Given the description of an element on the screen output the (x, y) to click on. 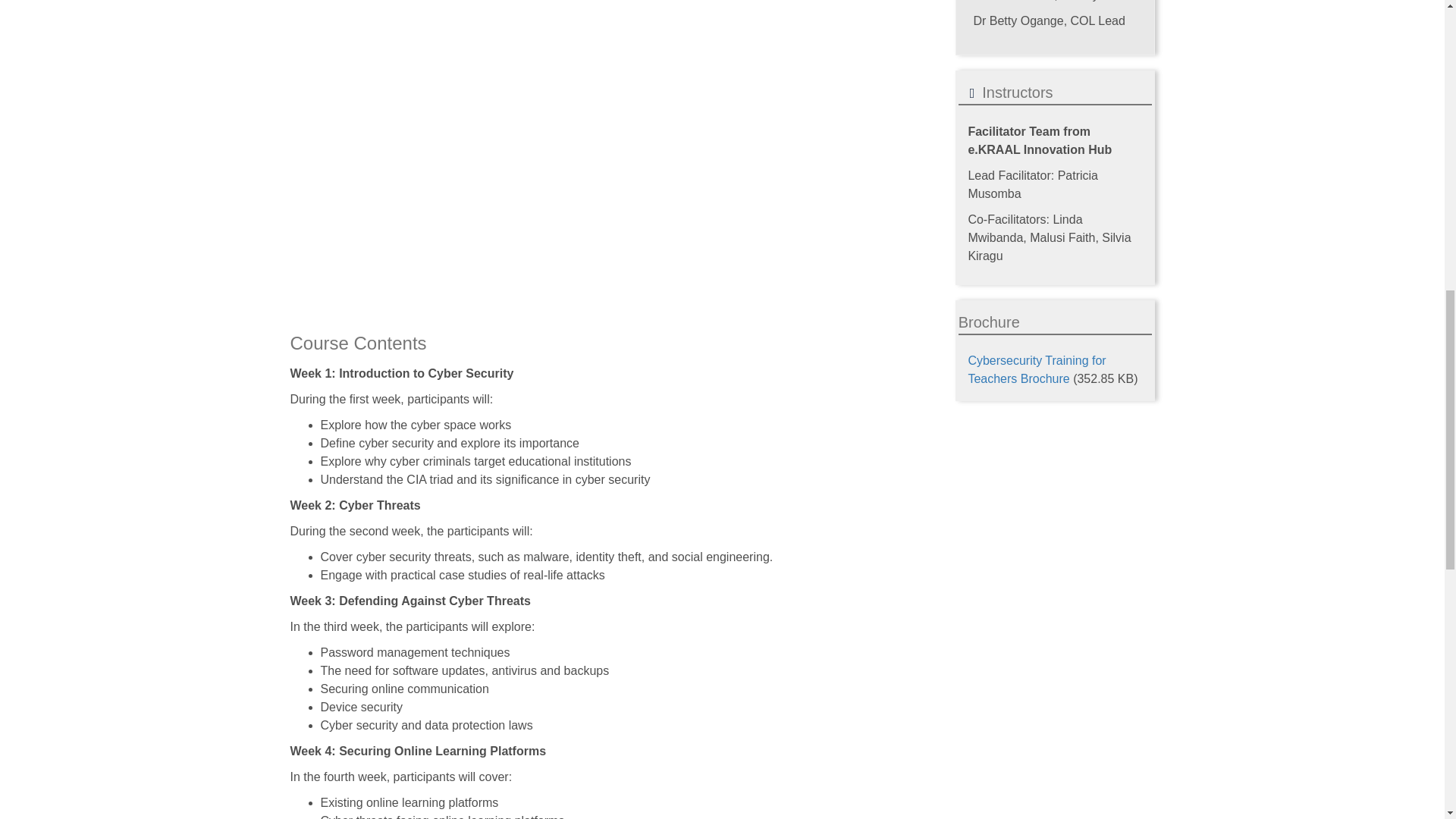
Cybersecurity Training for Teachers Brochure (1036, 368)
